Given the description of an element on the screen output the (x, y) to click on. 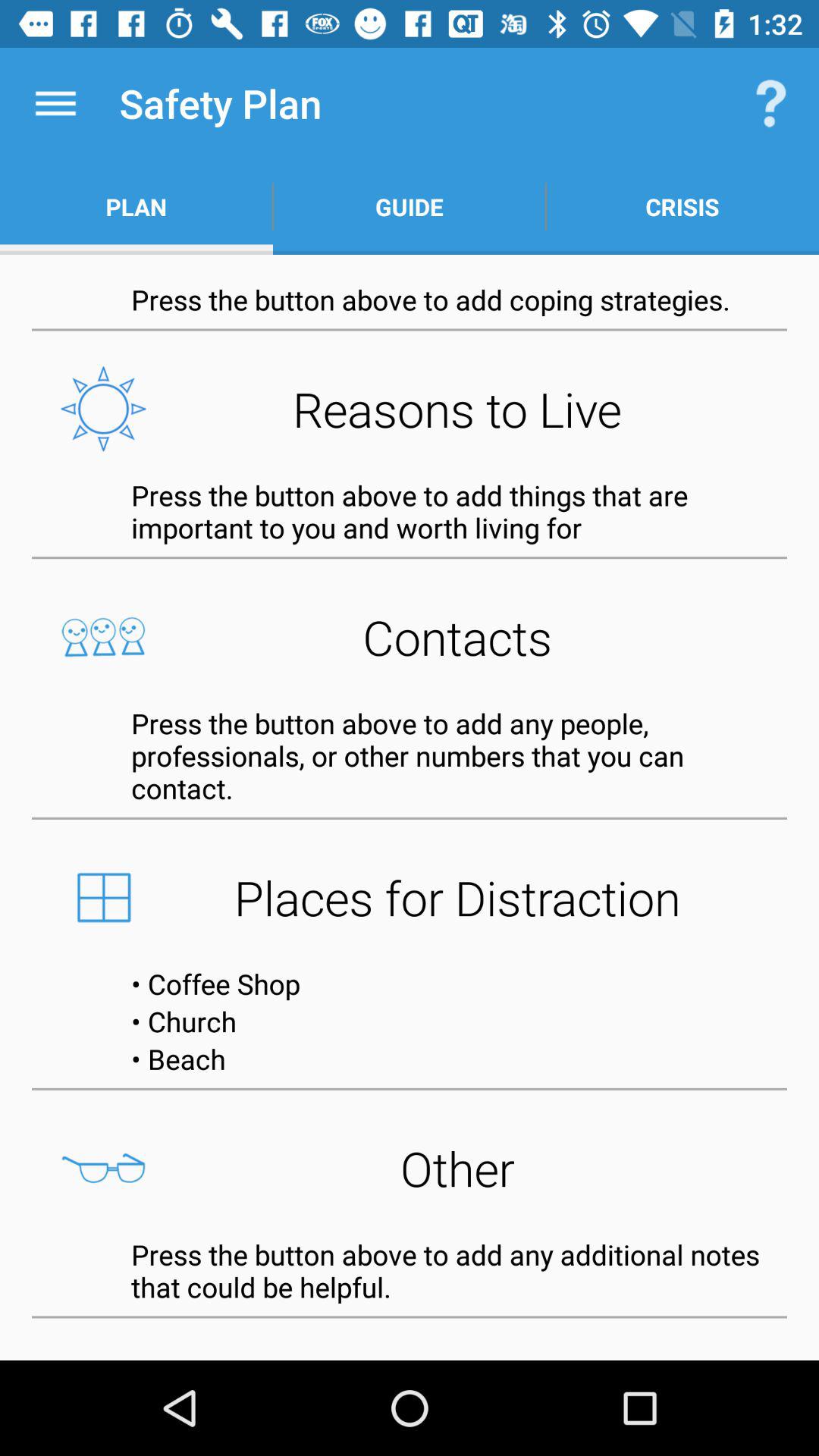
press the app below the safety plan app (409, 206)
